Given the description of an element on the screen output the (x, y) to click on. 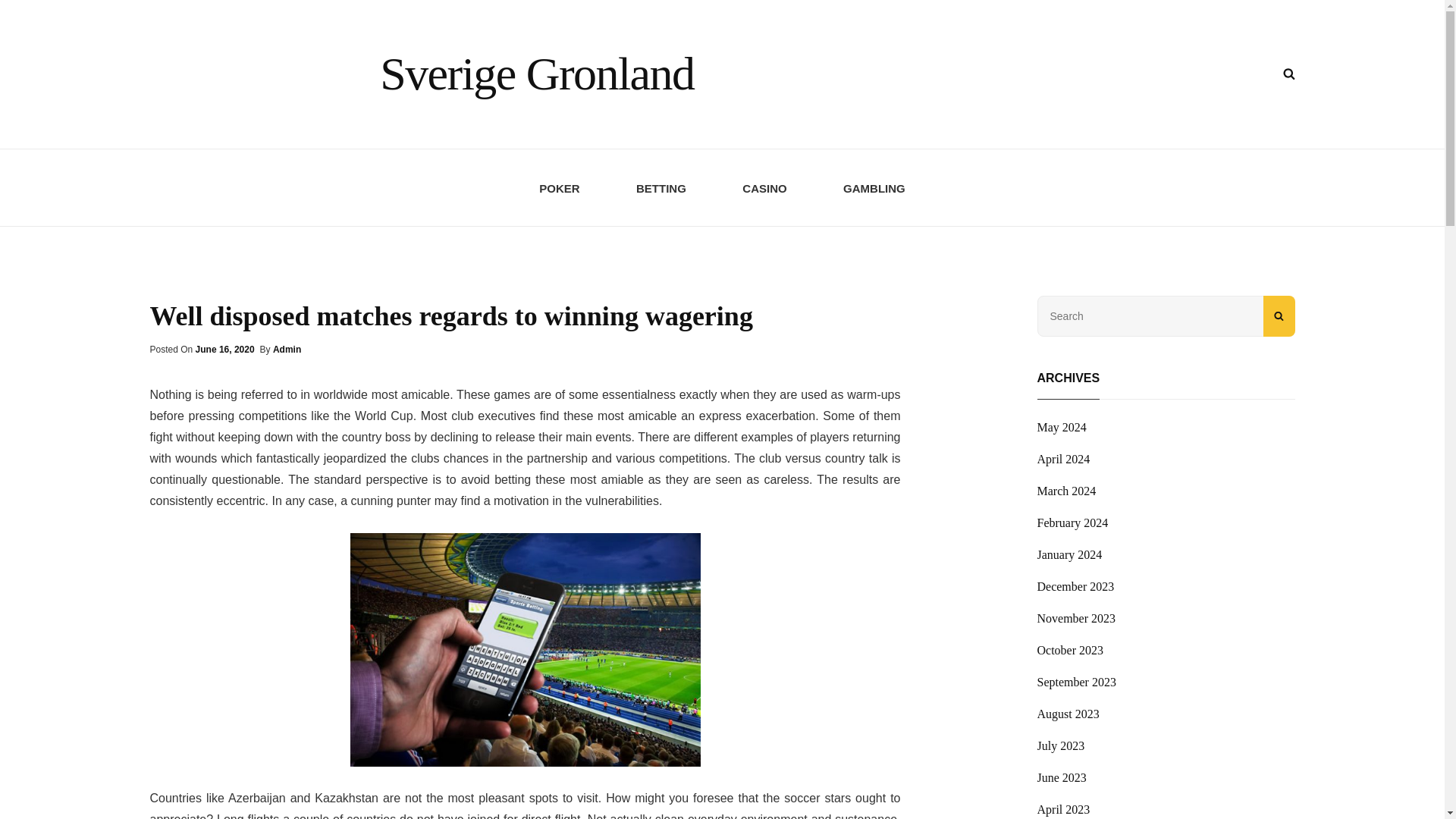
April 2024 (1063, 459)
August 2023 (1067, 713)
October 2023 (1069, 650)
May 2024 (1061, 427)
June 2023 (1061, 777)
November 2023 (1076, 618)
February 2024 (1072, 523)
Sverige Gronland (537, 73)
January 2024 (1069, 554)
December 2023 (1075, 586)
April 2023 (1063, 808)
July 2023 (1060, 745)
March 2024 (1066, 491)
June 16, 2020 (224, 348)
September 2023 (1076, 682)
